Given the description of an element on the screen output the (x, y) to click on. 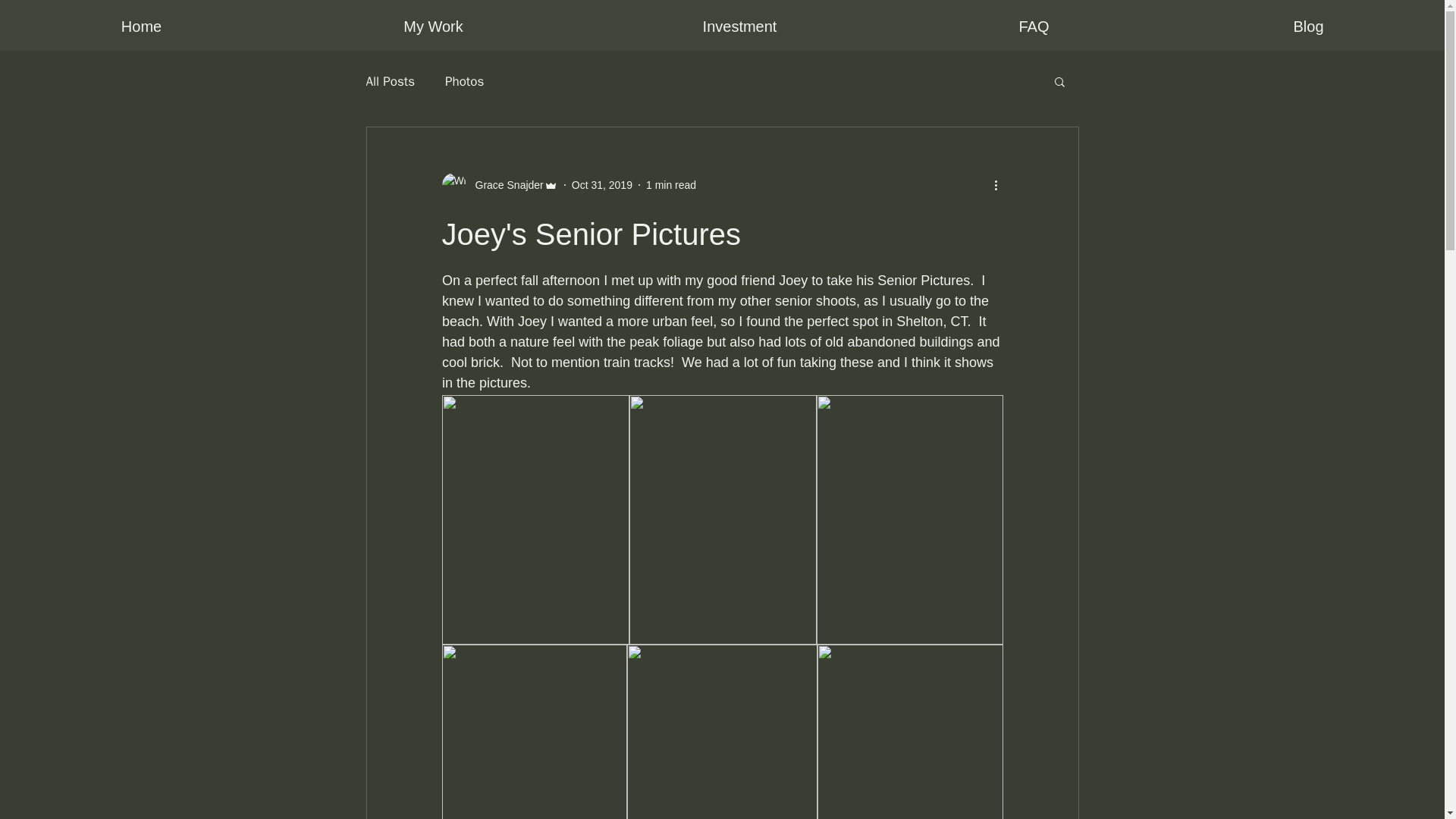
All Posts (389, 81)
Investment (739, 26)
Oct 31, 2019 (601, 184)
1 min read (670, 184)
Home (141, 26)
Photos (464, 81)
FAQ (1033, 26)
My Work (432, 26)
Grace Snajder (499, 184)
Grace Snajder (504, 185)
